Given the description of an element on the screen output the (x, y) to click on. 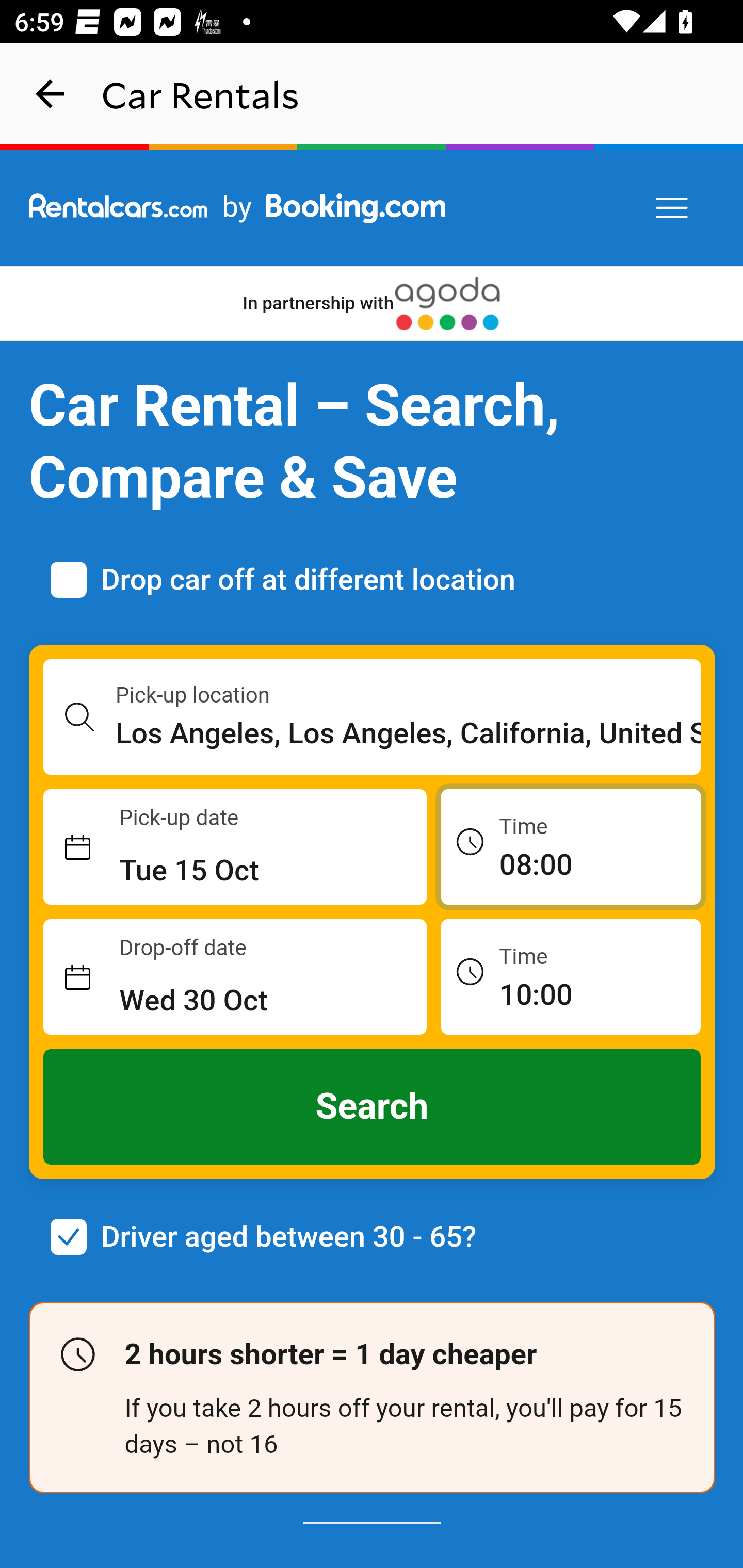
navigation_button (50, 93)
Menu (672, 208)
Pick-up date Tue 15 Oct (235, 847)
08:00 (571, 845)
Drop-off date Wed 30 Oct (235, 977)
10:00 (571, 975)
Search (372, 1106)
